Given the description of an element on the screen output the (x, y) to click on. 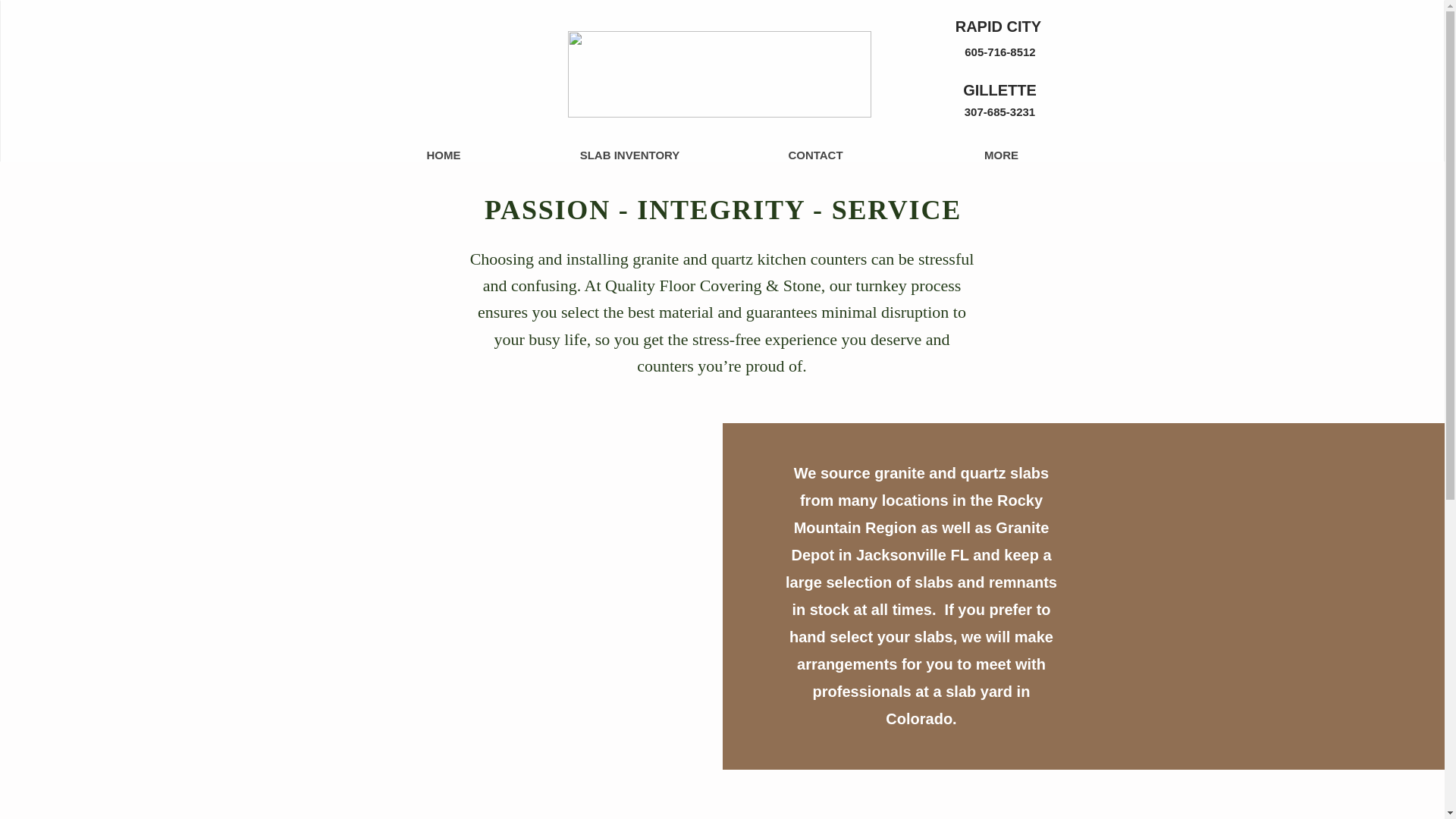
QFC final Logo update 2022.png (718, 74)
HOME (442, 154)
SLAB INVENTORY (629, 154)
CONTACT (814, 154)
